Given the description of an element on the screen output the (x, y) to click on. 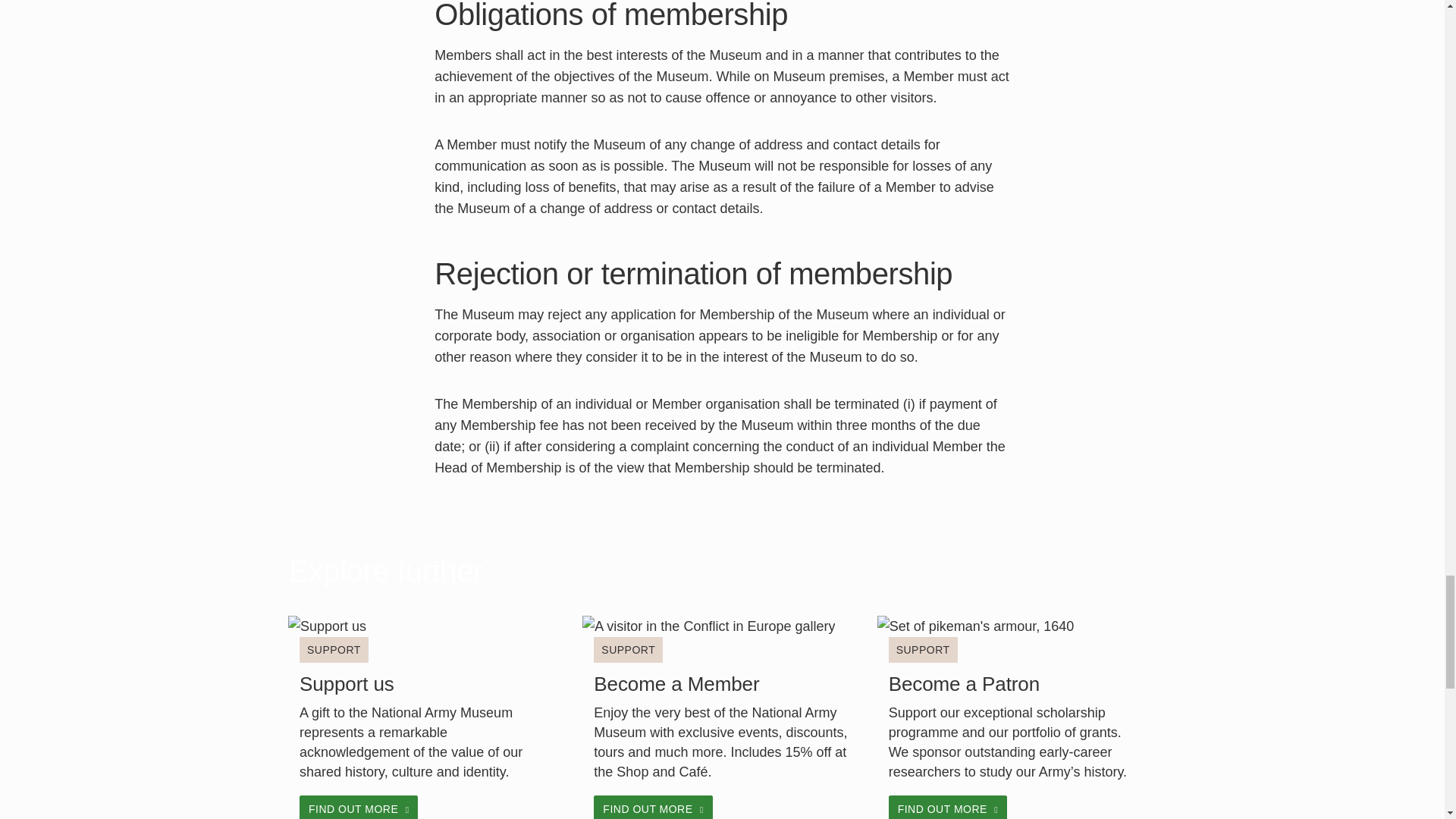
Support us (346, 683)
Become a Patron (963, 683)
Become a Member (676, 683)
